Given the description of an element on the screen output the (x, y) to click on. 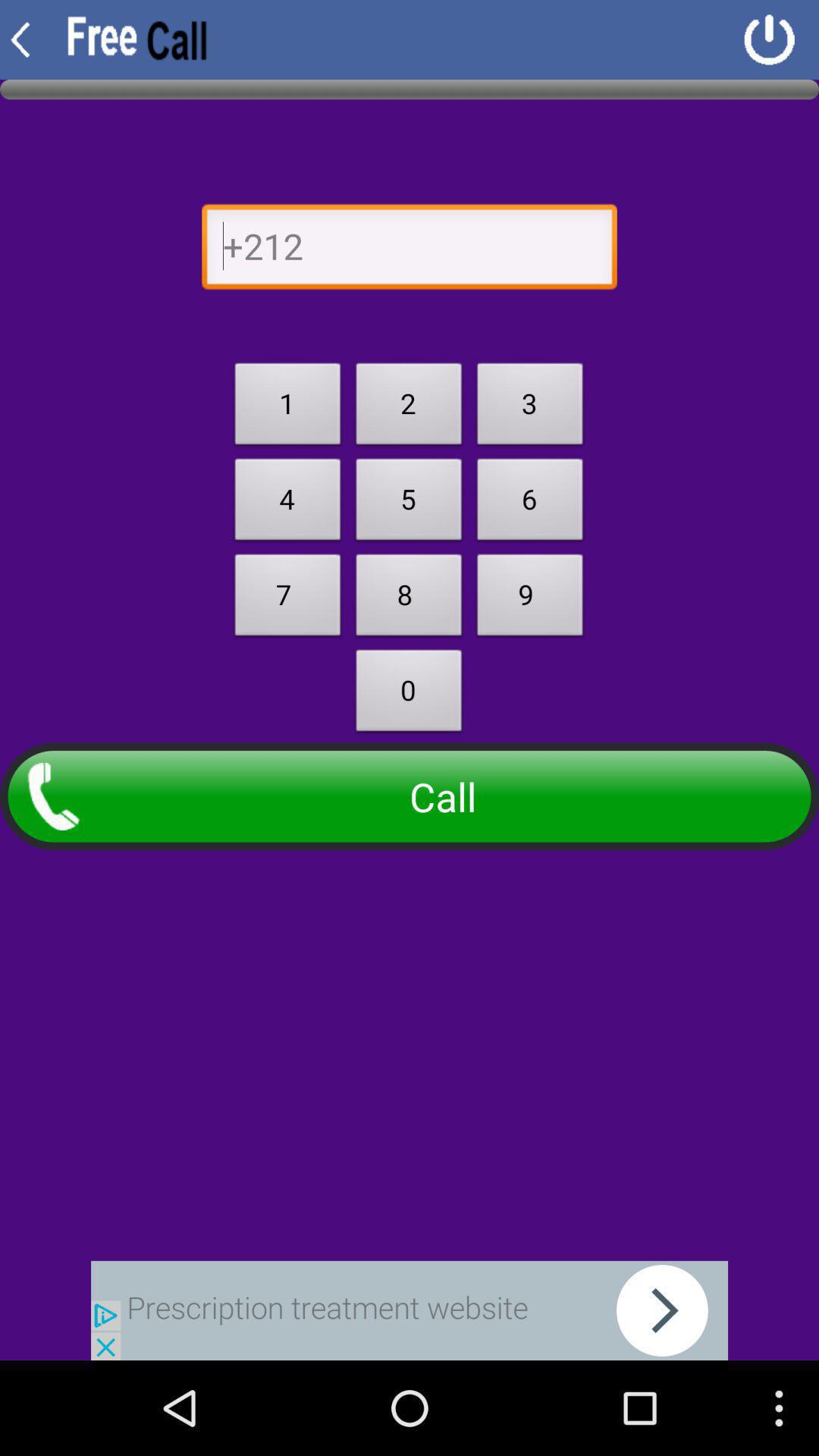
seach (409, 1310)
